Given the description of an element on the screen output the (x, y) to click on. 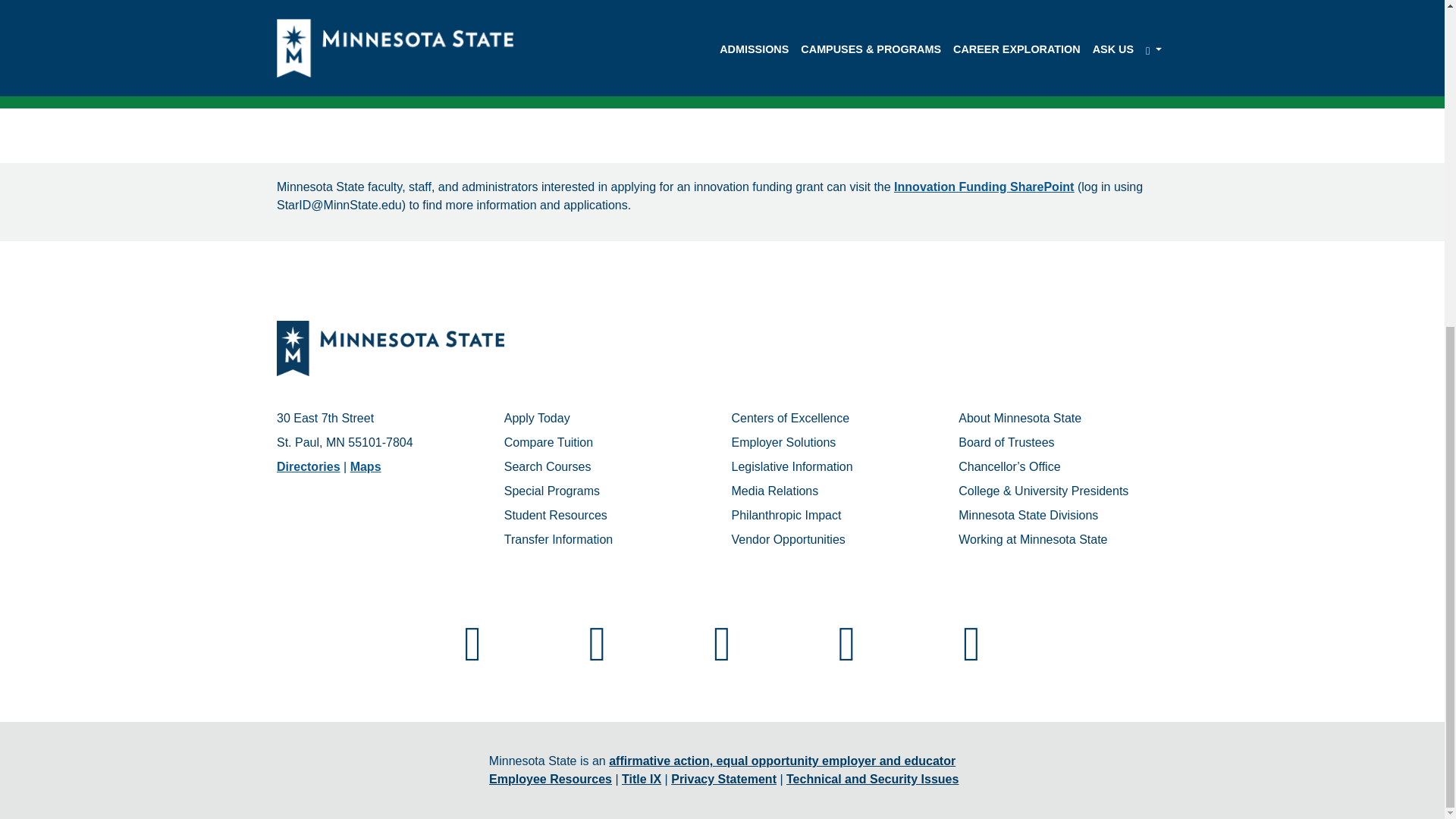
Minnesota State X (721, 629)
Facebook (472, 629)
Compliance and reporting (641, 779)
Transfer Information (557, 539)
Centers of Excellence (789, 418)
Innovation Funding SharePoint (983, 186)
Minnesota State YouTube (970, 629)
About Minnesota State (1019, 418)
Email Thomas Bruflat (320, 92)
Minnesota State employee information (550, 779)
